Given the description of an element on the screen output the (x, y) to click on. 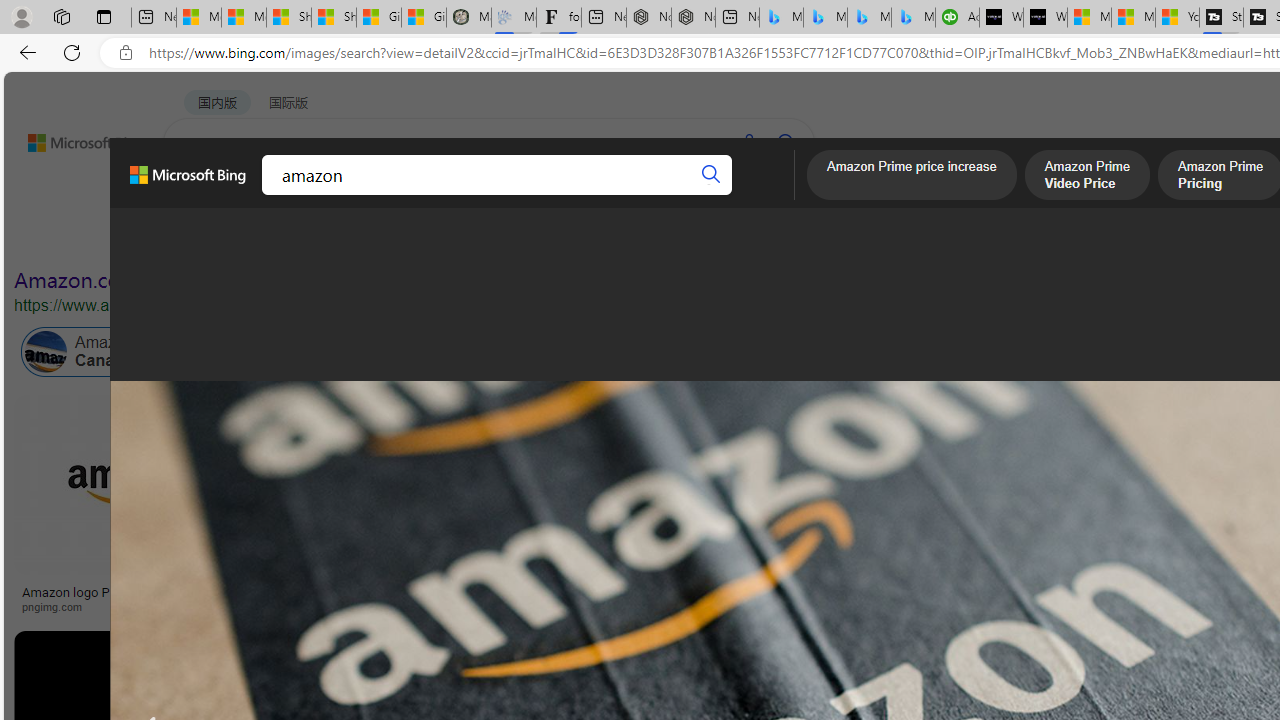
ACADEMIC (548, 195)
VIDEOS (458, 195)
People (521, 237)
